Given the description of an element on the screen output the (x, y) to click on. 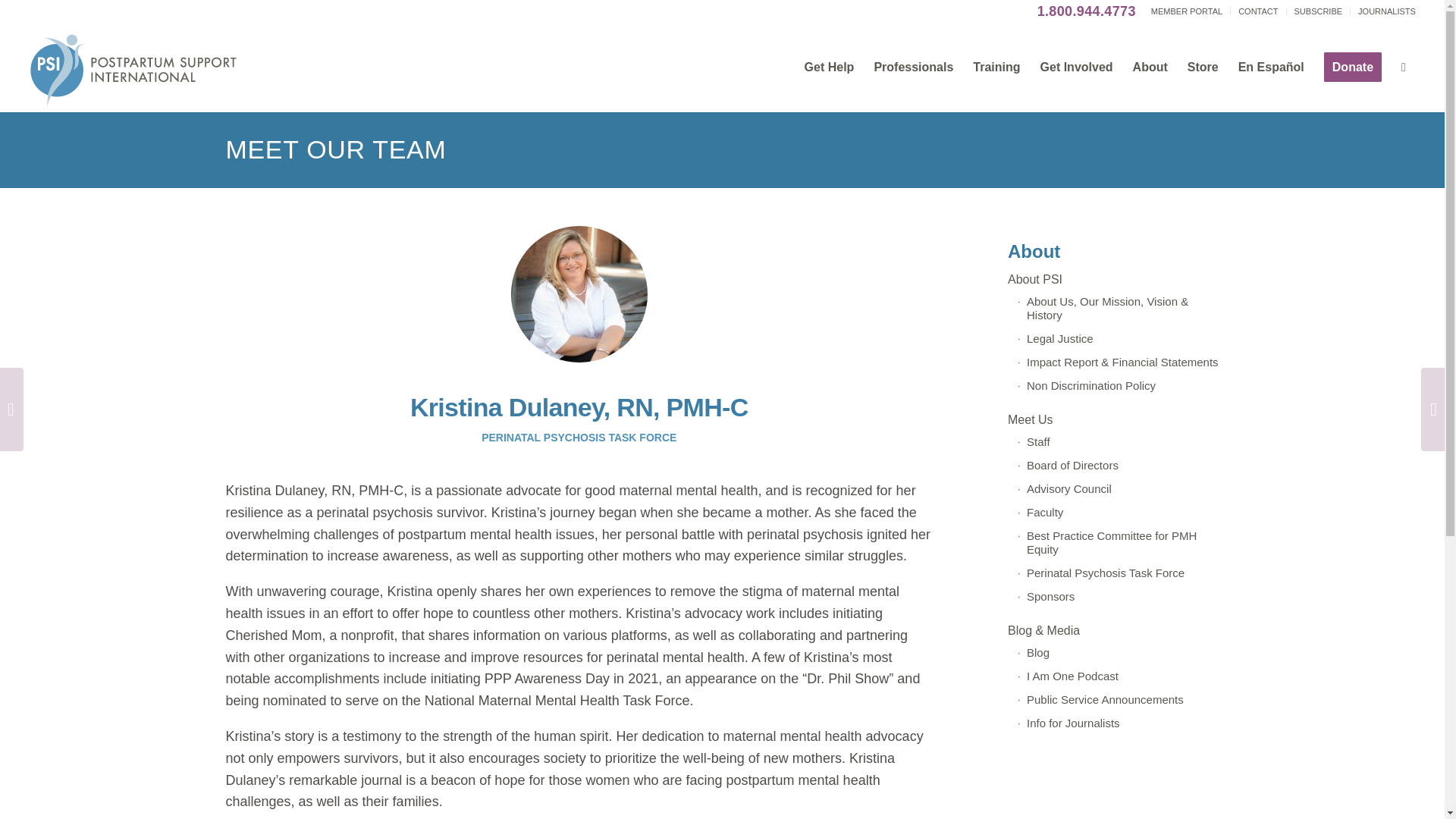
SUBSCRIBE (1318, 11)
MEMBER PORTAL (1187, 11)
JOURNALISTS (1386, 11)
Professionals (912, 67)
CONTACT (1258, 11)
Permanent Link: Meet Our Team (335, 149)
Get Involved (1076, 67)
